Given the description of an element on the screen output the (x, y) to click on. 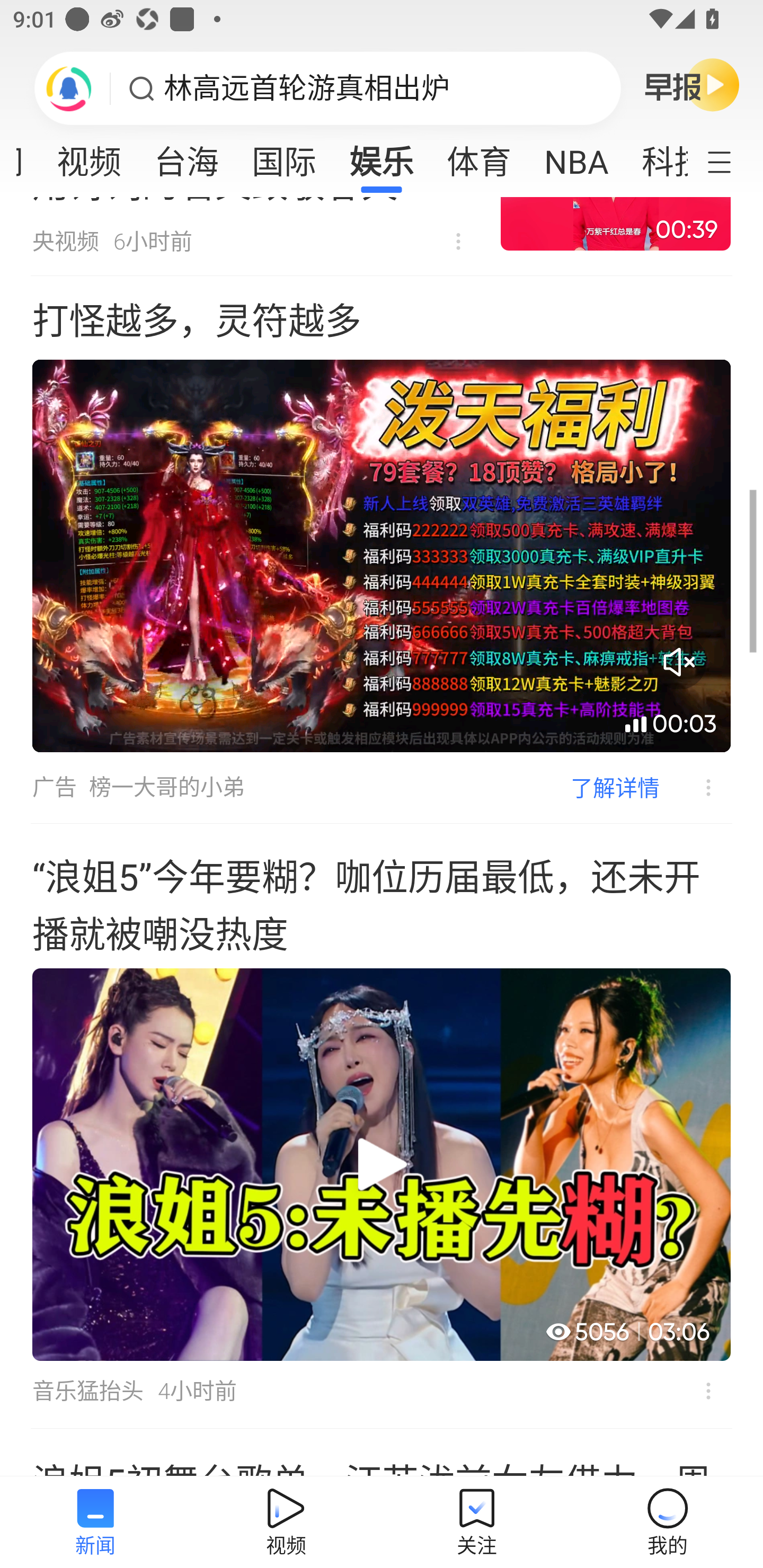
早晚报 (691, 84)
刷新 (68, 88)
林高远首轮游真相出炉 (307, 88)
视频 (89, 155)
台海 (186, 155)
国际 (283, 155)
娱乐 (381, 155)
体育 (478, 155)
NBA (575, 155)
 定制频道 (731, 160)
 不感兴趣 (458, 241)
打怪越多，灵符越多 00:04 音量开关 广告 榜一大哥的小弟 了解详情  不感兴趣 (381, 549)
00:04 音量开关 (381, 555)
音量开关 (678, 662)
 不感兴趣 (694, 787)
了解详情 (614, 787)
广告 (54, 786)
榜一大哥的小弟 (166, 786)
 不感兴趣 (707, 1390)
